Given the description of an element on the screen output the (x, y) to click on. 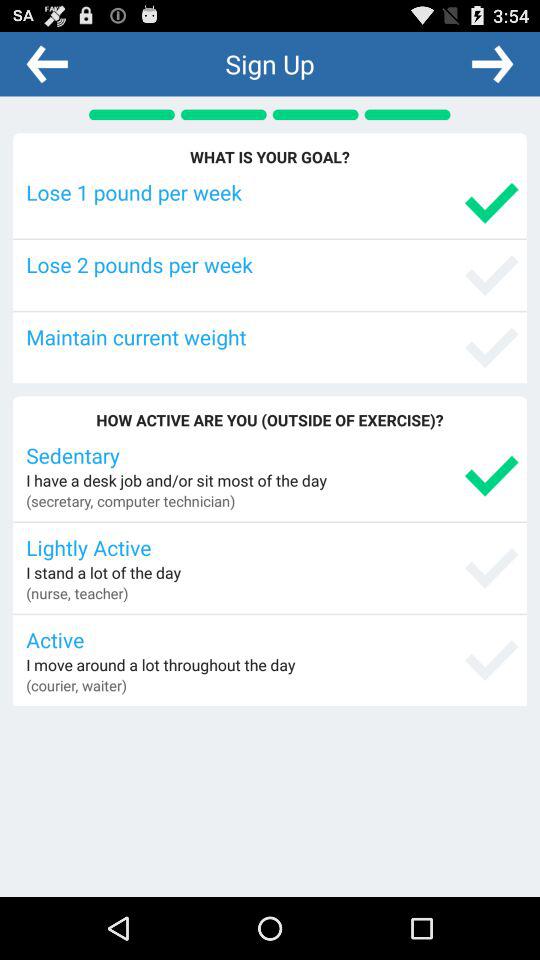
click on page indicator icon (131, 114)
select the icon which is right to the text lose 1 pound per week (491, 202)
select the symbol which is immediate to the right of the sedentary (491, 475)
